Given the description of an element on the screen output the (x, y) to click on. 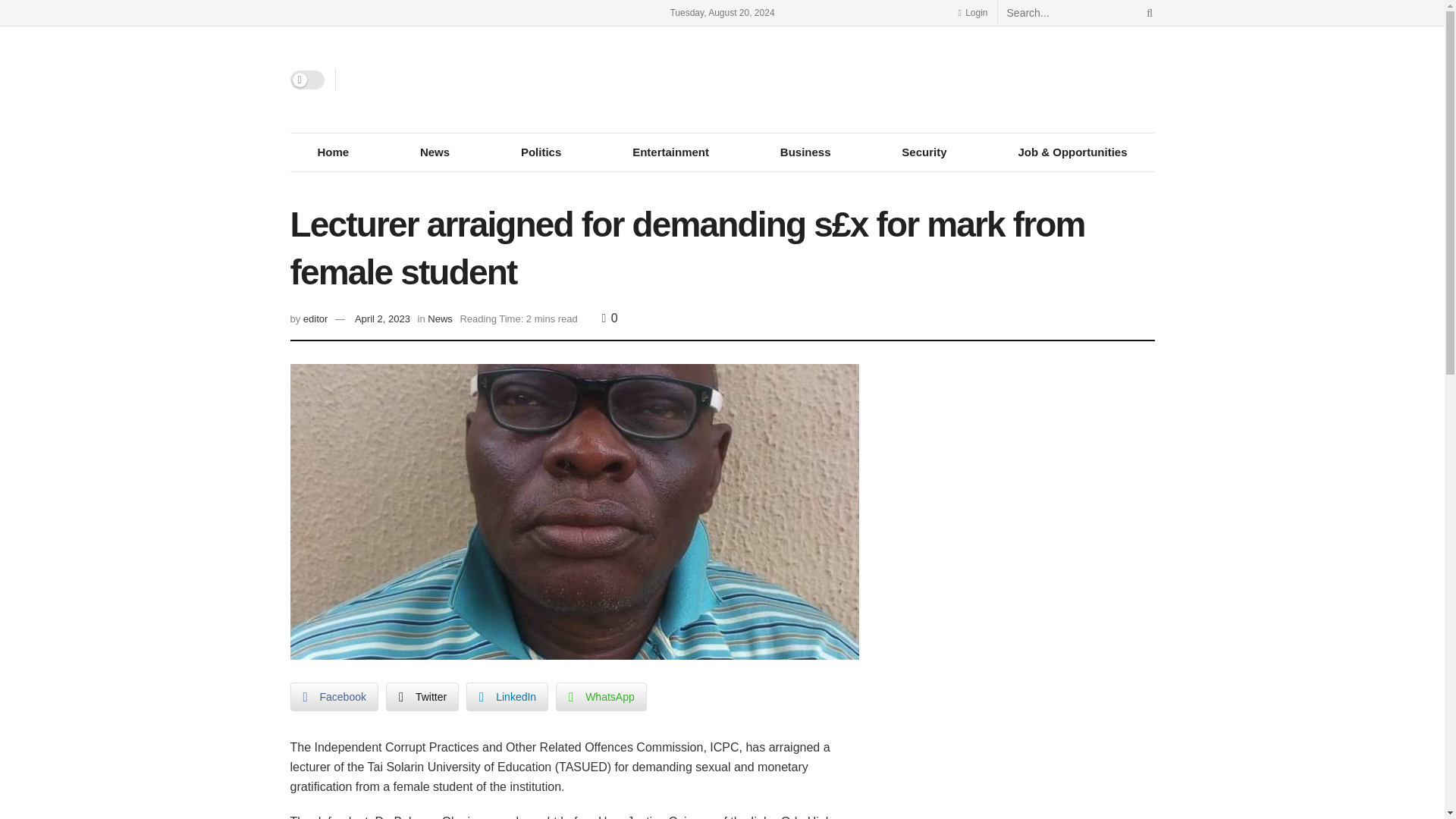
Business (805, 152)
LinkedIn (506, 696)
Twitter (421, 696)
WhatsApp (601, 696)
Security (924, 152)
Politics (540, 152)
Home (332, 152)
News (440, 318)
Entertainment (670, 152)
April 2, 2023 (382, 318)
